Given the description of an element on the screen output the (x, y) to click on. 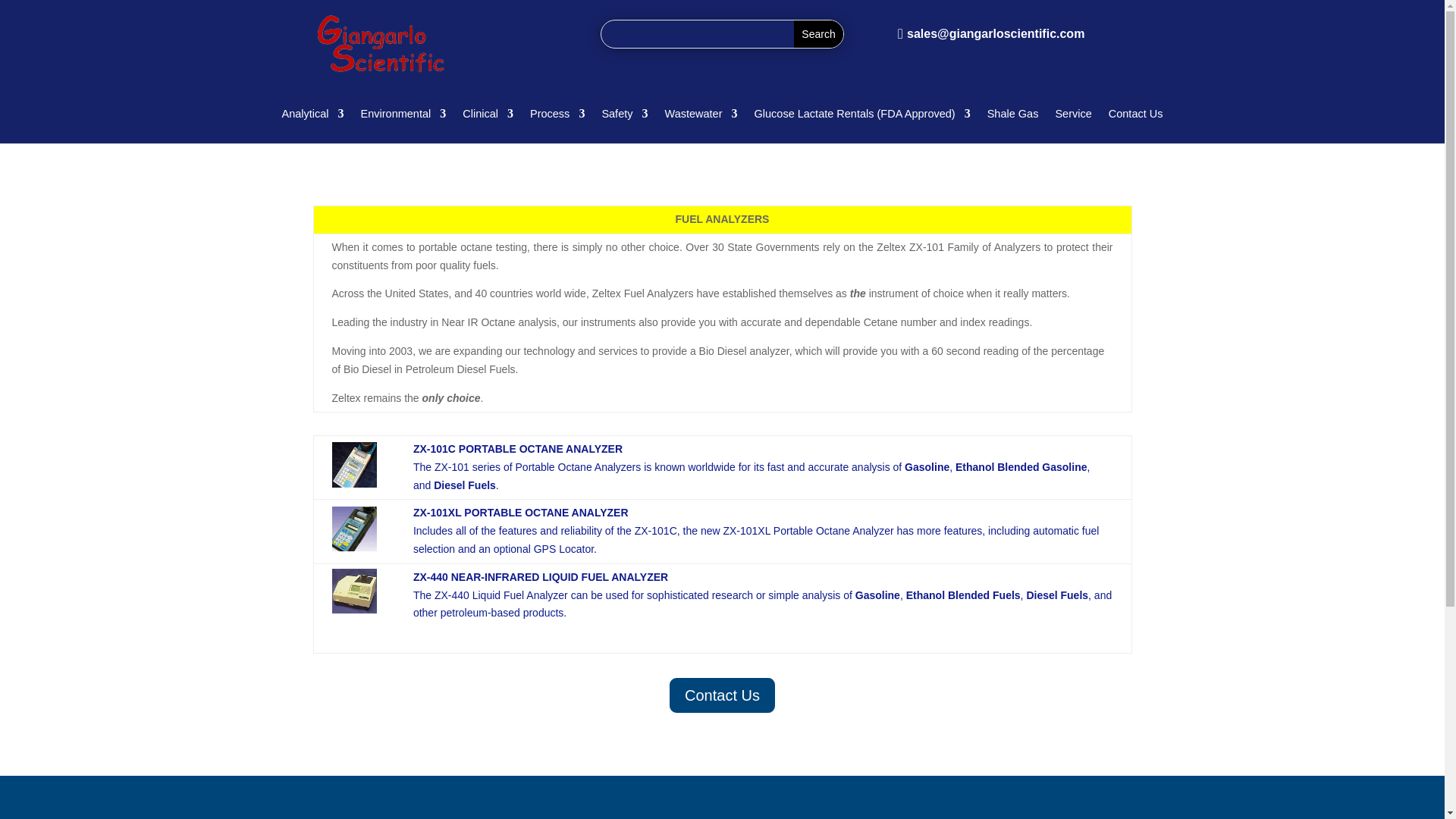
Analytical (312, 116)
Search (818, 33)
Search (818, 33)
Environmental (403, 116)
Search (818, 33)
Giangarlo Scientific (382, 44)
